Given the description of an element on the screen output the (x, y) to click on. 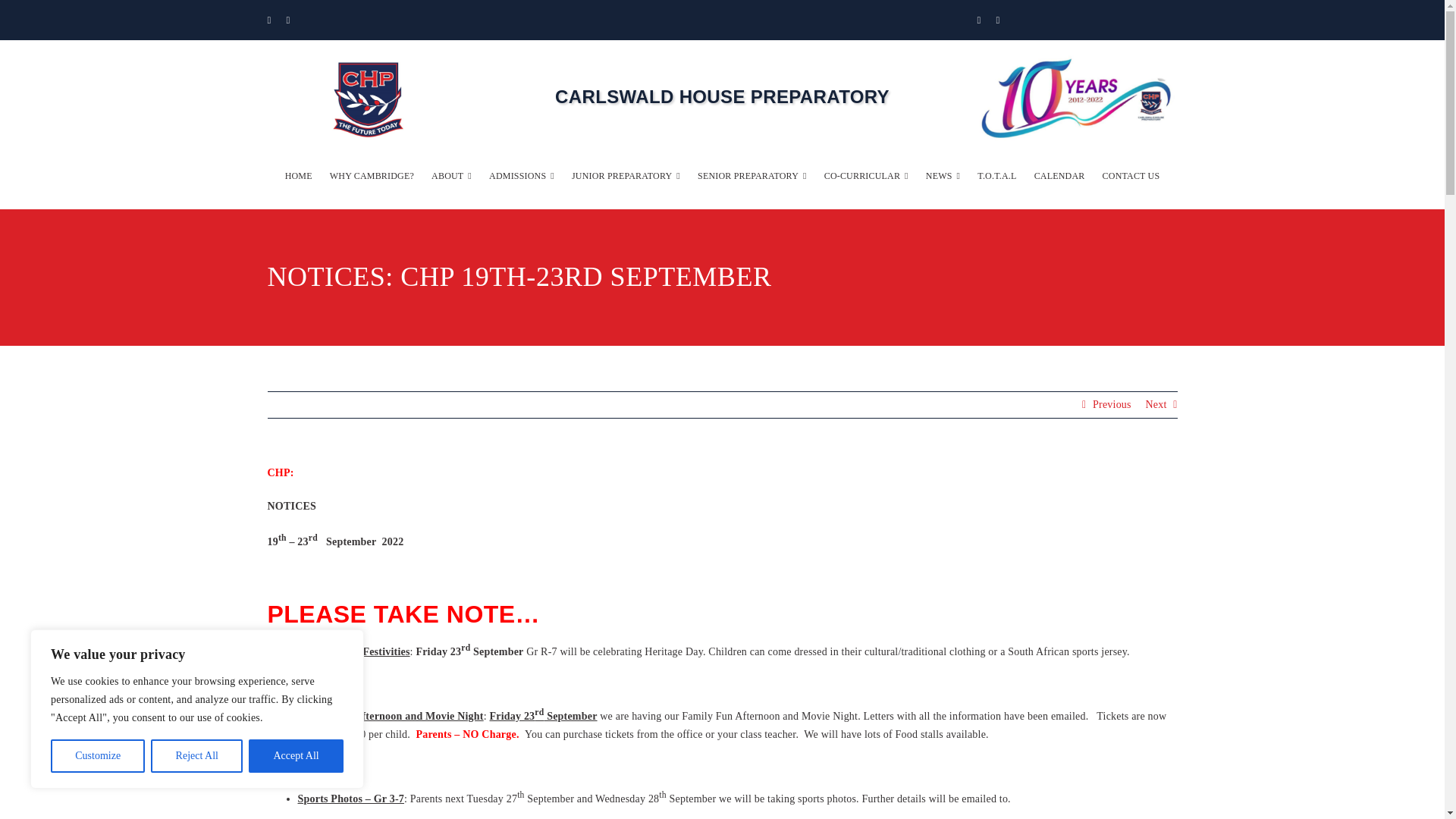
logo-carlswald-house-10-years (1076, 98)
Reject All (197, 756)
CARLSWALD HOUSE PREPARATORY (721, 96)
Accept All (295, 756)
JUNIOR PREPARATORY (625, 176)
ABOUT (450, 176)
WHY CAMBRIDGE? (371, 176)
Customize (97, 756)
ADMISSIONS (521, 176)
